Given the description of an element on the screen output the (x, y) to click on. 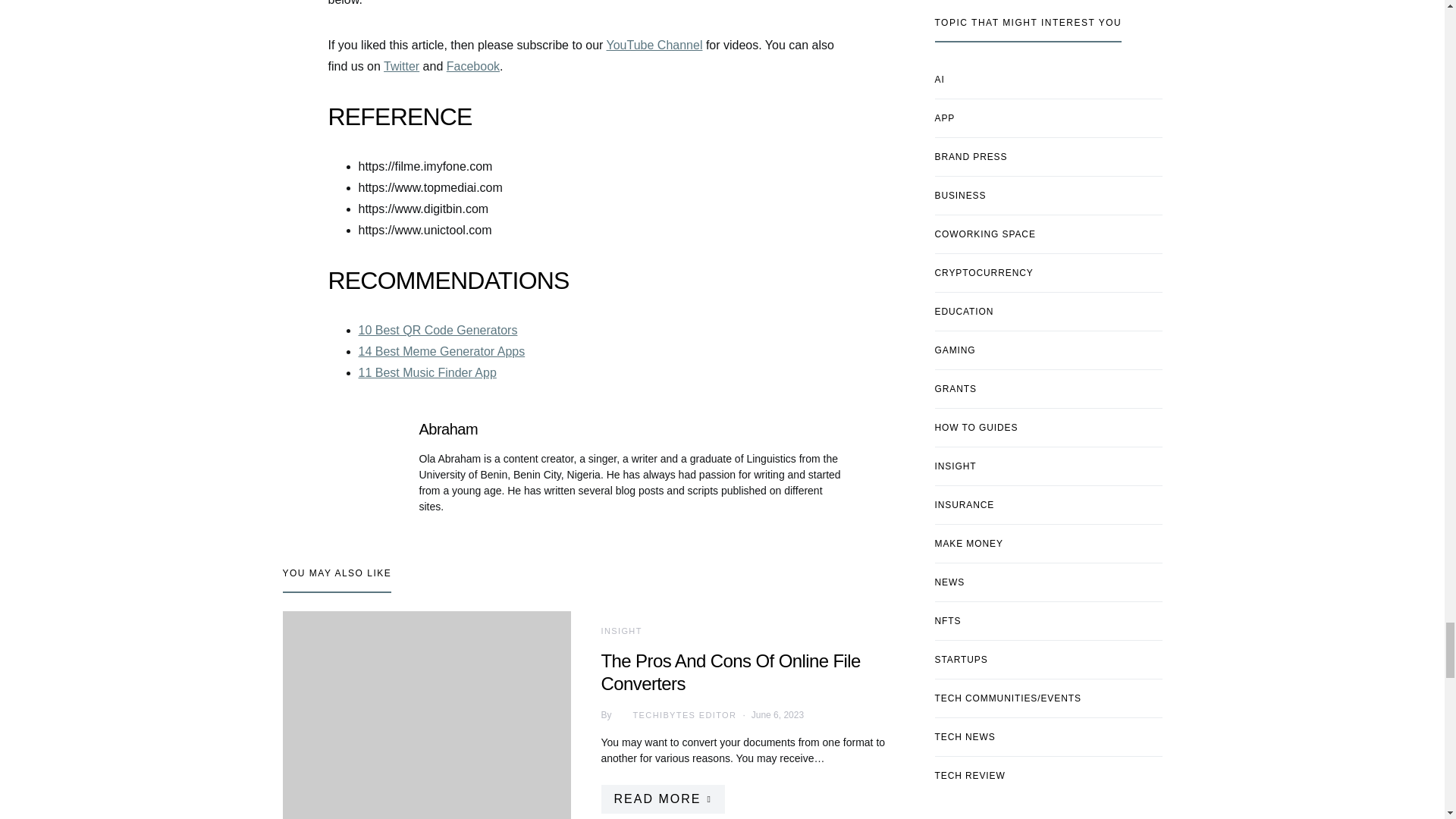
View all posts by Techibytes Editor (673, 714)
The Pros And Cons Of Online File Converters 6 (426, 714)
